Given the description of an element on the screen output the (x, y) to click on. 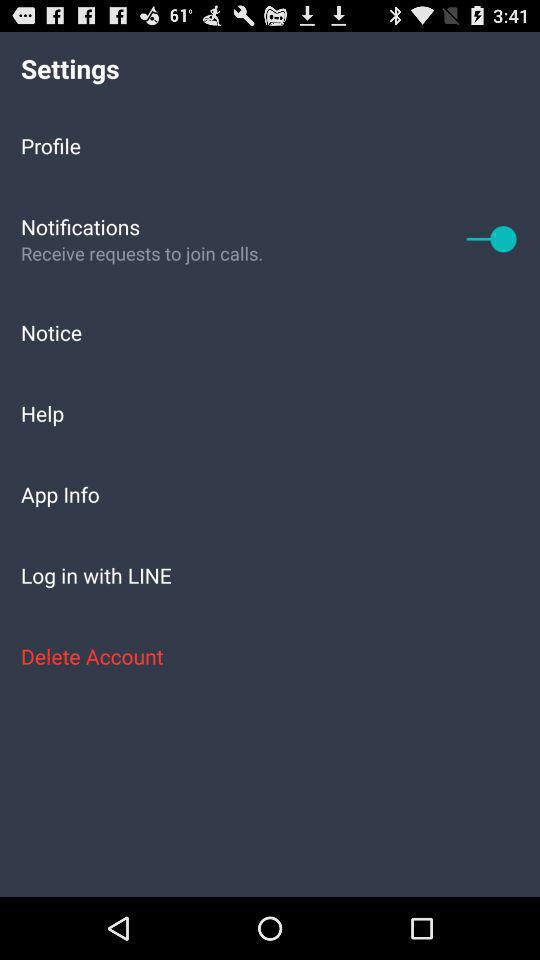
choose help (270, 412)
